Given the description of an element on the screen output the (x, y) to click on. 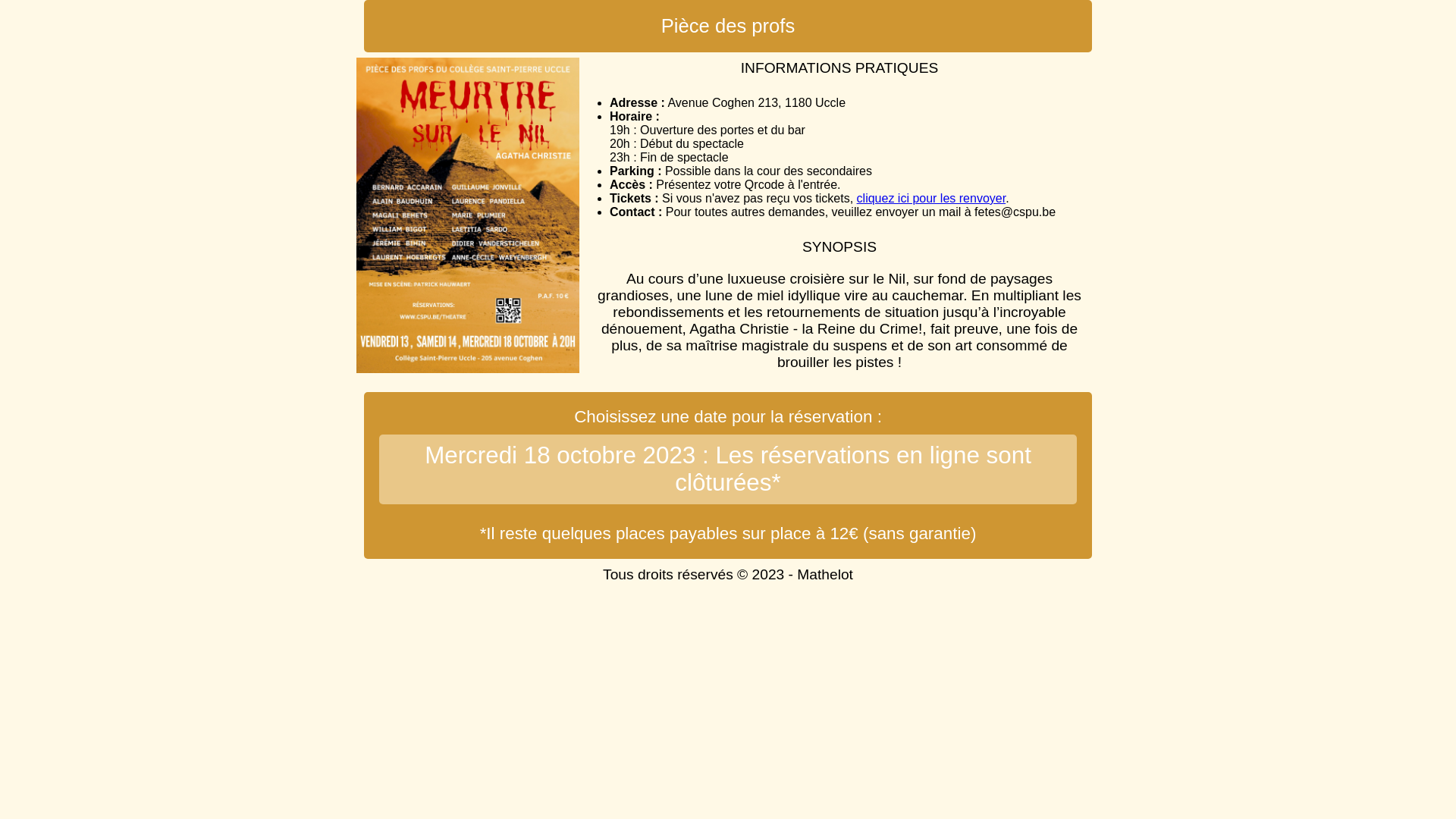
cliquez ici pour les renvoyer Element type: text (931, 197)
